Given the description of an element on the screen output the (x, y) to click on. 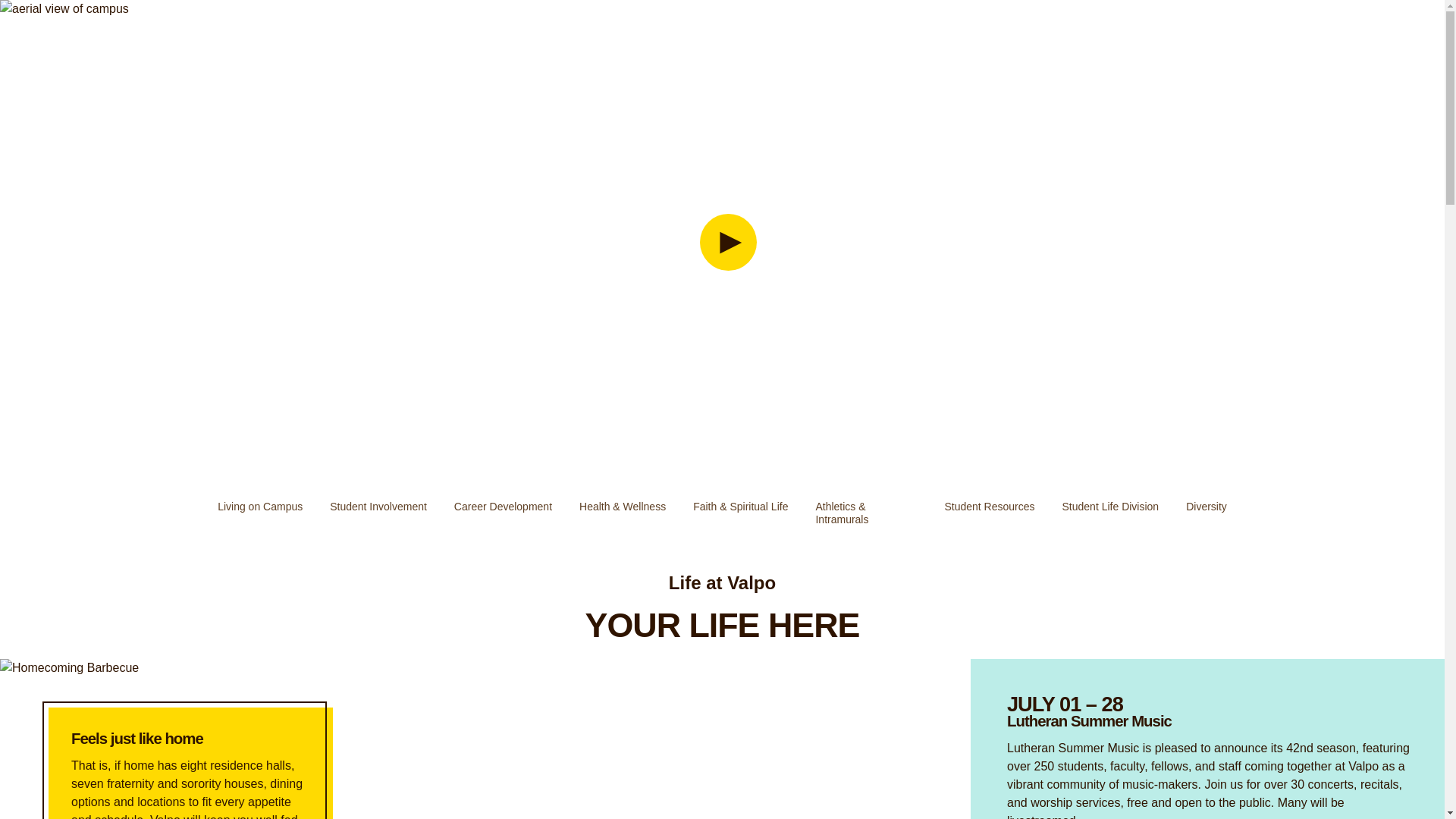
Student Resources (989, 507)
Diversity (1206, 507)
Living on Campus (259, 507)
Student Life Division (1111, 507)
Student Involvement (377, 507)
Career Development (502, 507)
